Given the description of an element on the screen output the (x, y) to click on. 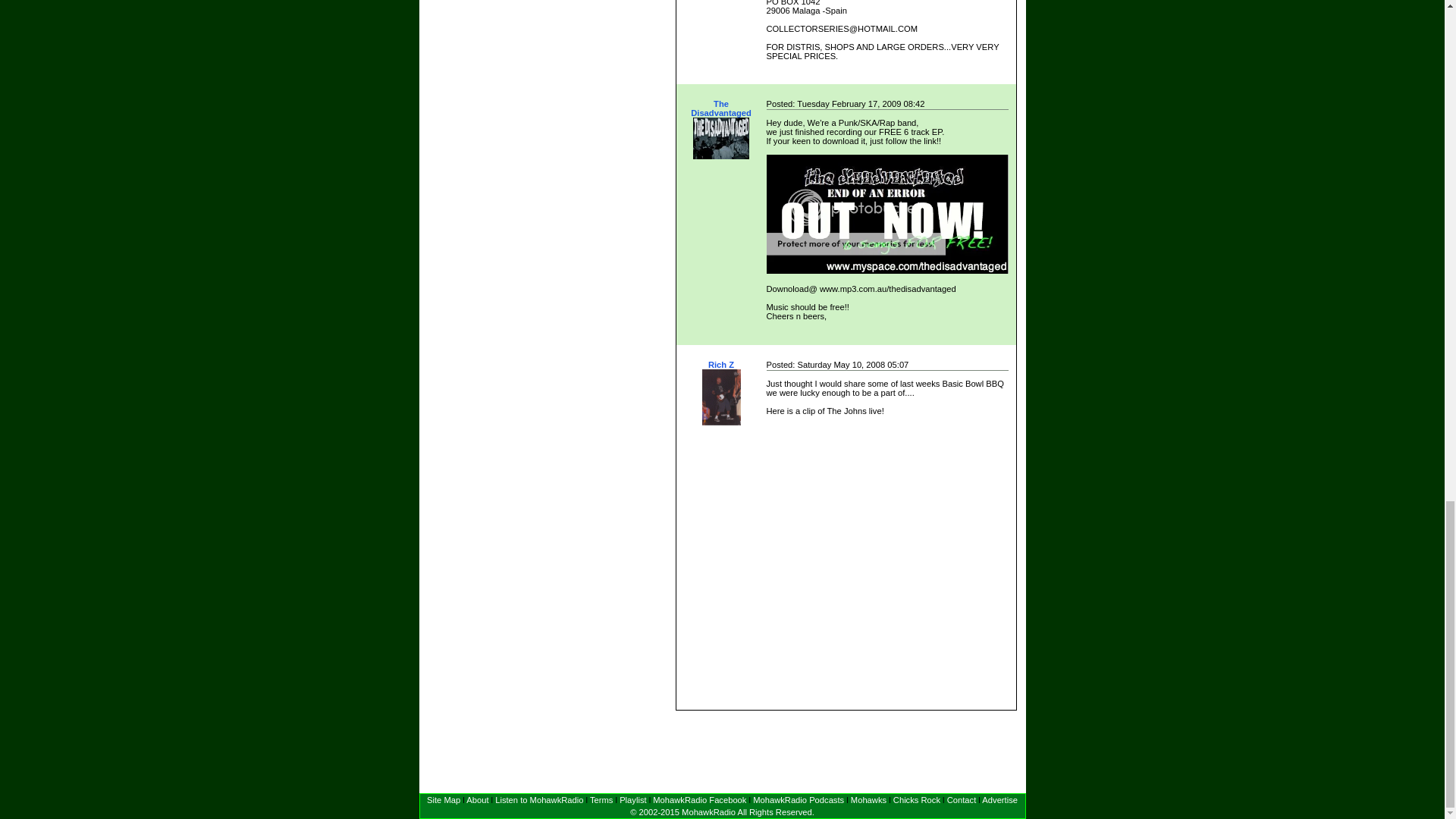
Mohawk Radio About Page (476, 799)
Advertisement (720, 749)
Advertisement (818, 749)
Mohawk Radio Free Internet Radio Stream (539, 799)
Site Map for MohawkRadio (443, 799)
Advertisement (938, 749)
